Given the description of an element on the screen output the (x, y) to click on. 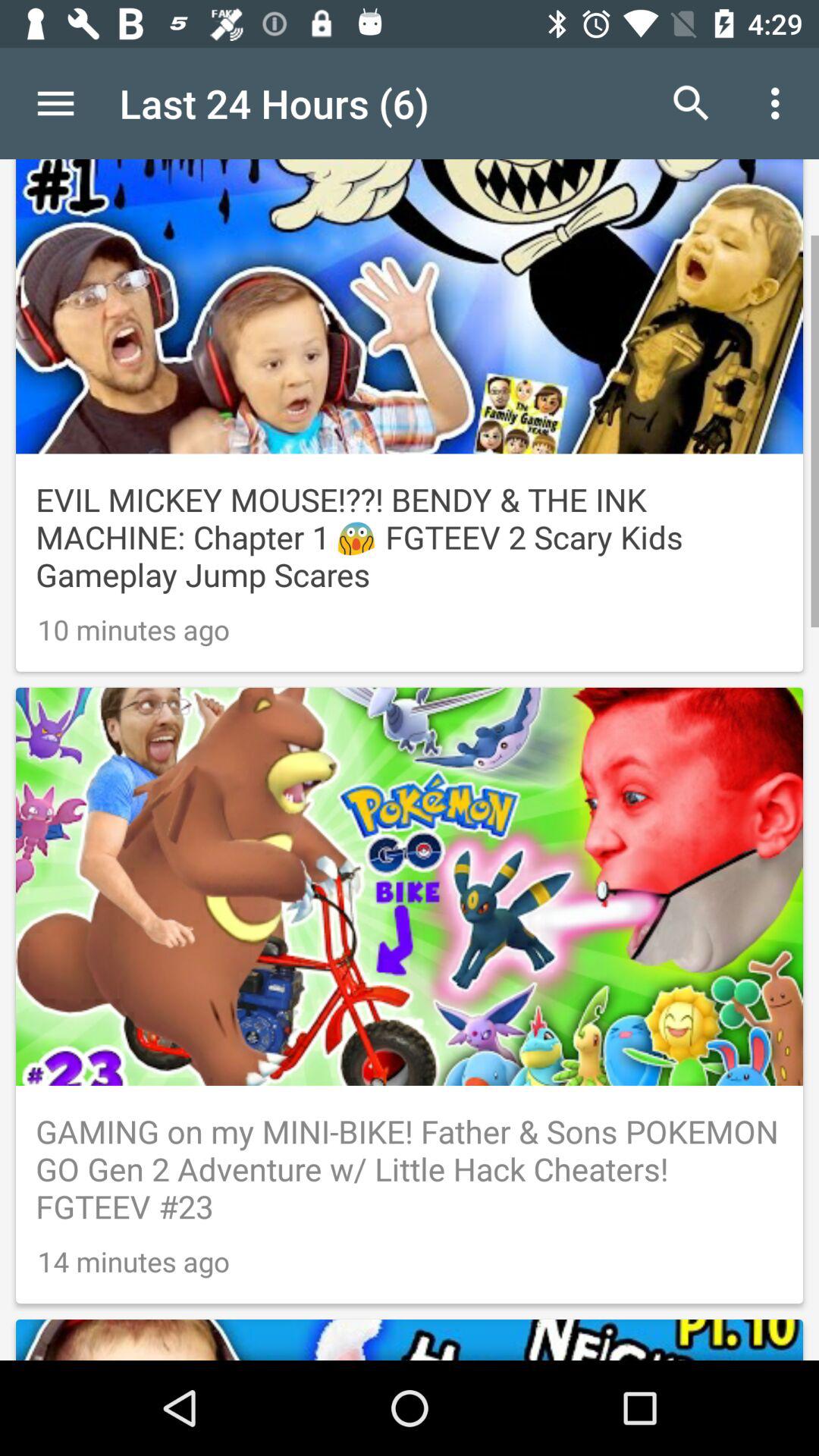
preview image (409, 1310)
